Given the description of an element on the screen output the (x, y) to click on. 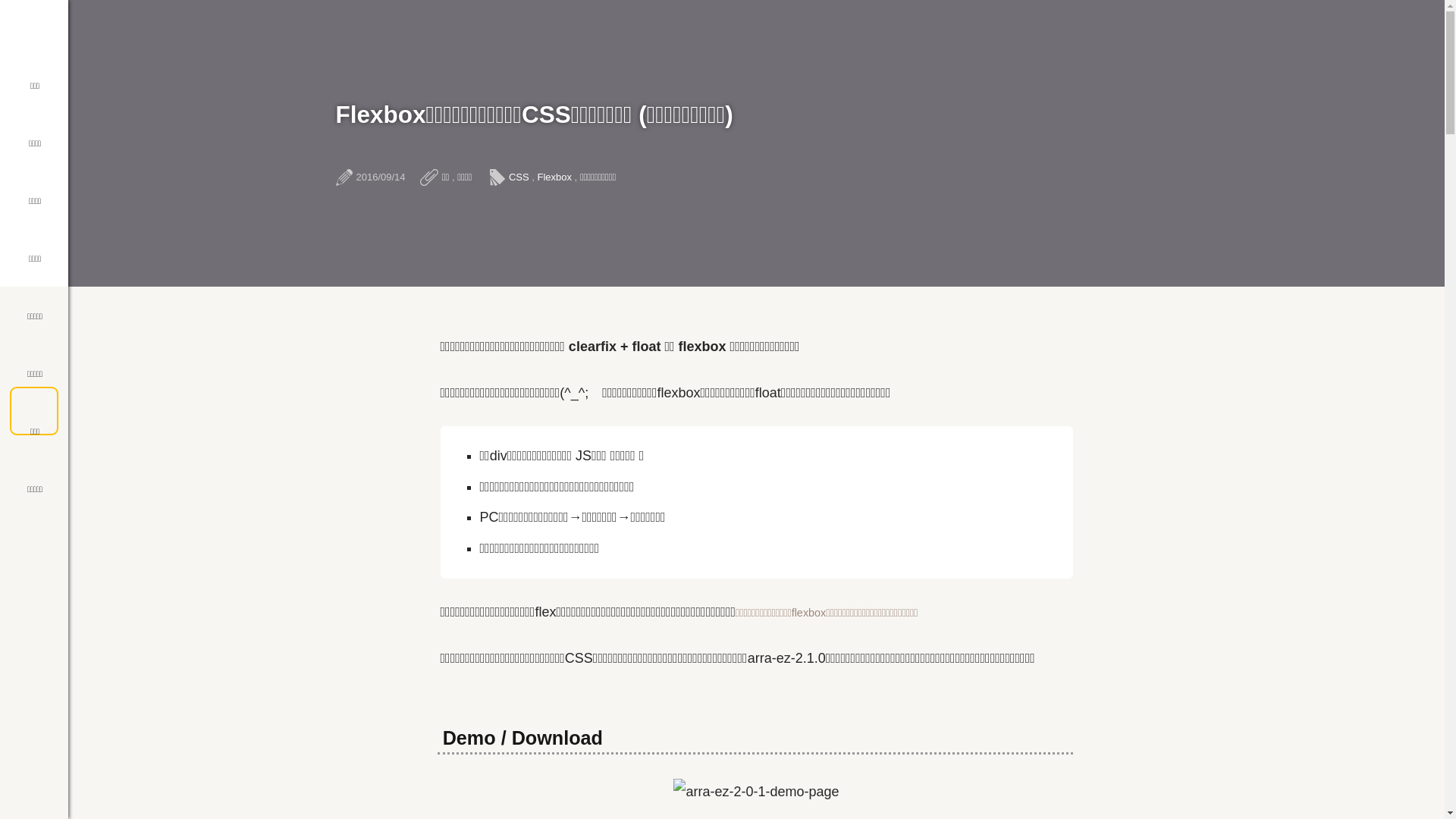
CSS Element type: text (518, 177)
Flexbox Element type: text (553, 177)
